Given the description of an element on the screen output the (x, y) to click on. 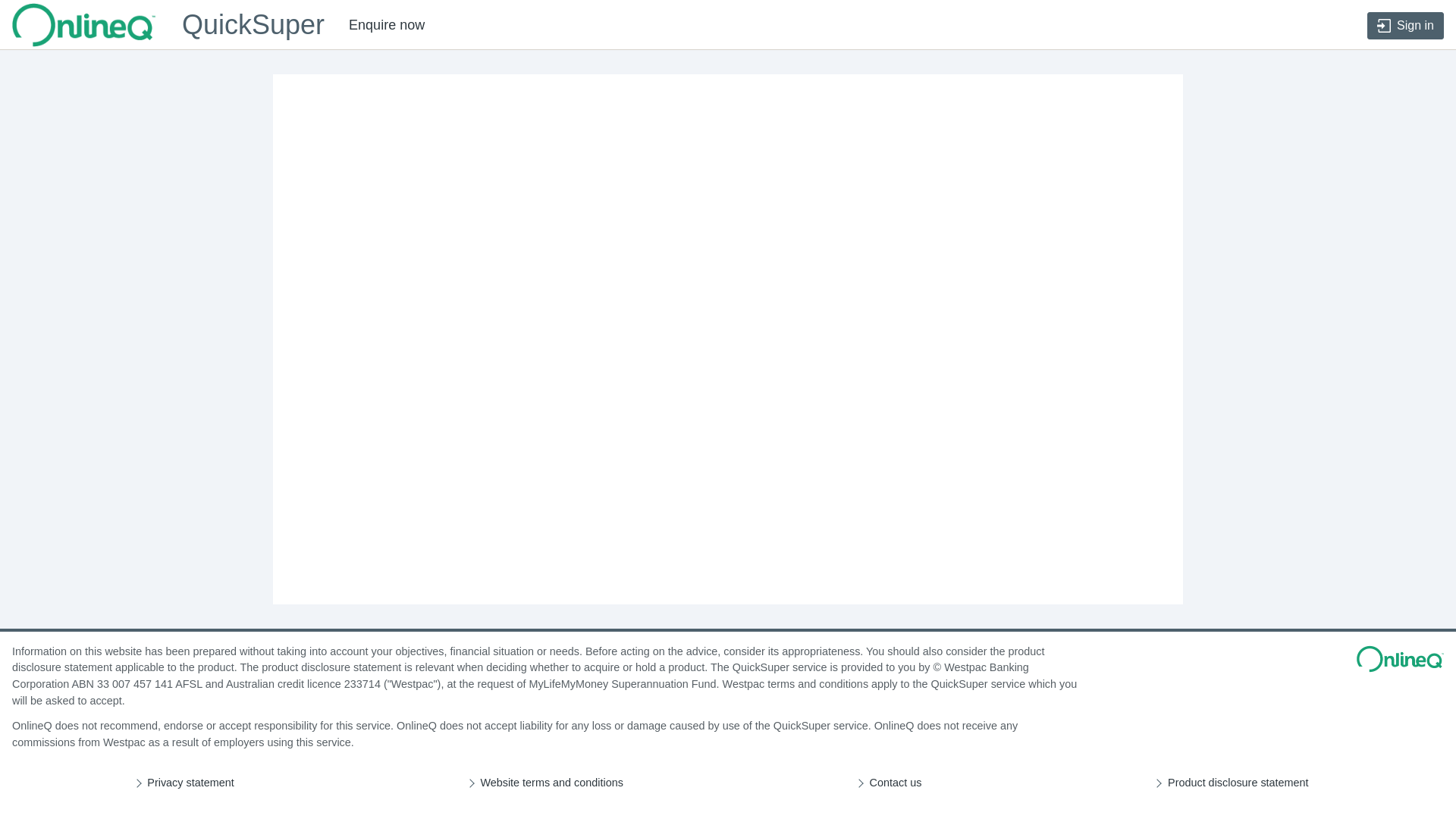
Website terms and conditions Element type: text (551, 782)
Privacy statement Element type: text (190, 782)
Contact us Element type: text (895, 782)
Enquire now Element type: text (386, 25)
QuickSuper Element type: text (168, 25)
Product disclosure statement Element type: text (1237, 782)
